Given the description of an element on the screen output the (x, y) to click on. 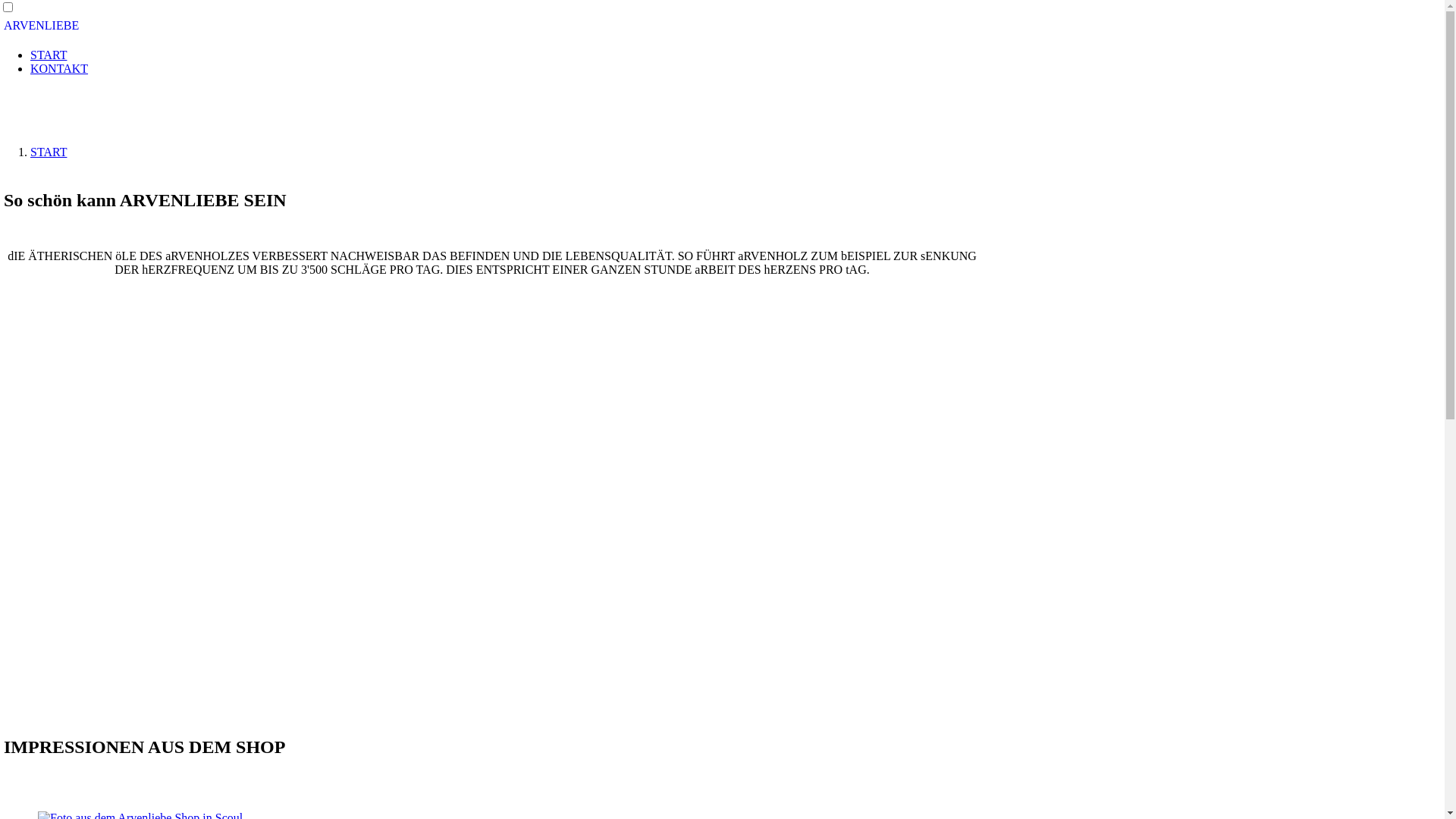
KONTAKT Element type: text (58, 68)
START Element type: text (48, 54)
ARVENLIEBE Element type: text (40, 24)
START Element type: text (48, 151)
